Given the description of an element on the screen output the (x, y) to click on. 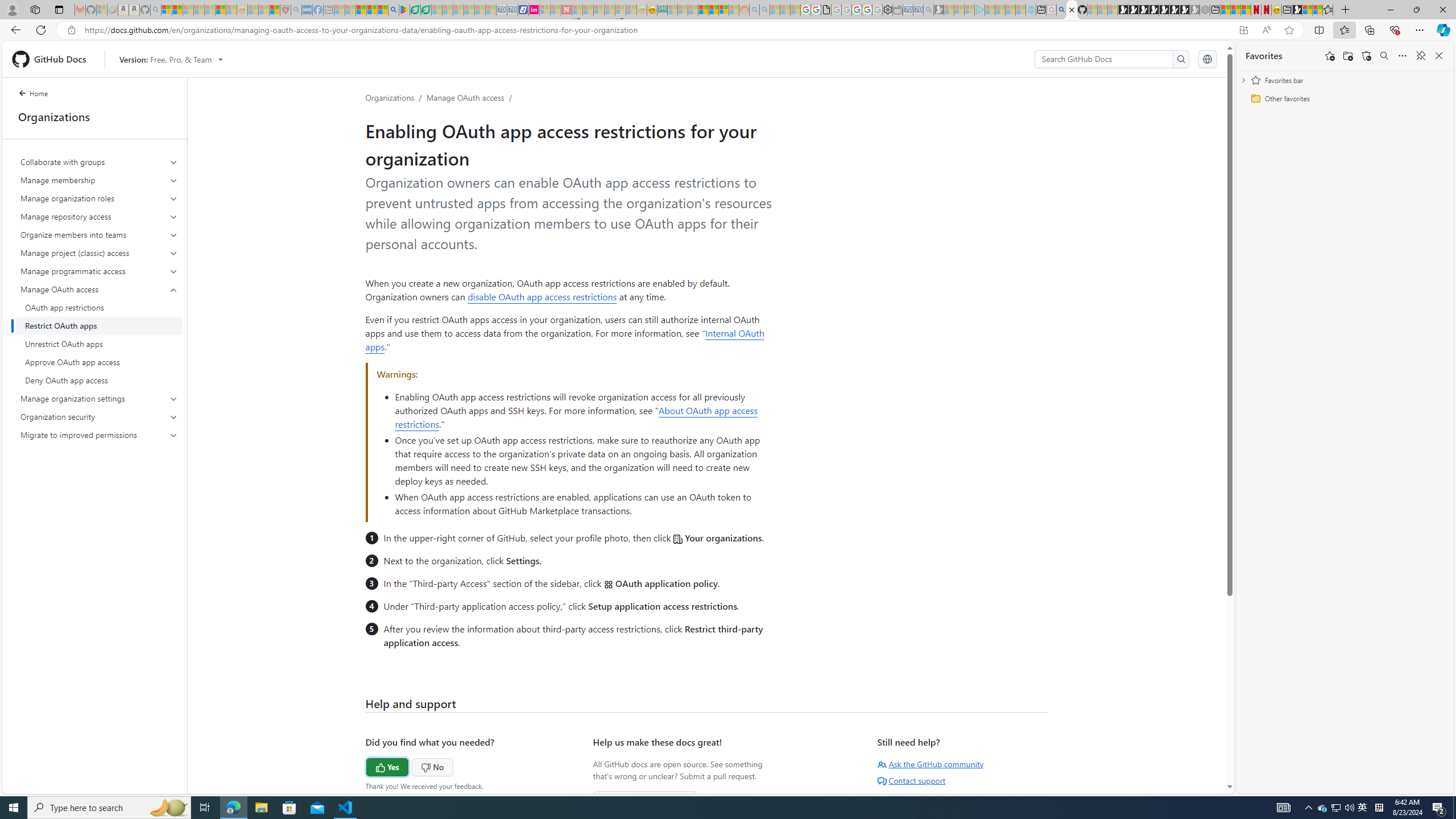
Manage project (classic) access (99, 253)
Ask the GitHub community (930, 763)
Approve OAuth app access (99, 361)
Organizations/ (395, 97)
Kinda Frugal - MSN (713, 9)
